Given the description of an element on the screen output the (x, y) to click on. 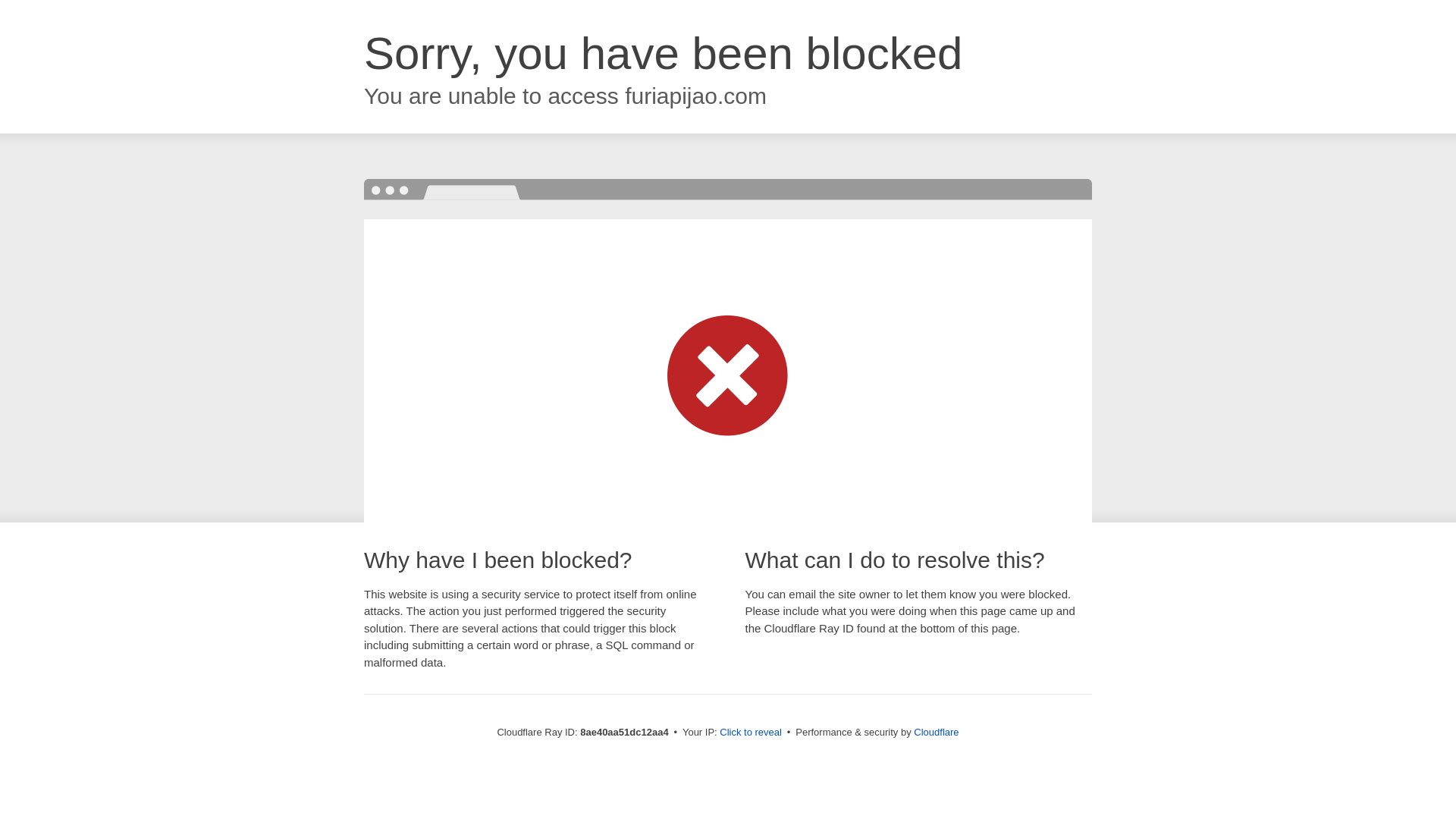
Cloudflare (936, 731)
Click to reveal (750, 732)
